Given the description of an element on the screen output the (x, y) to click on. 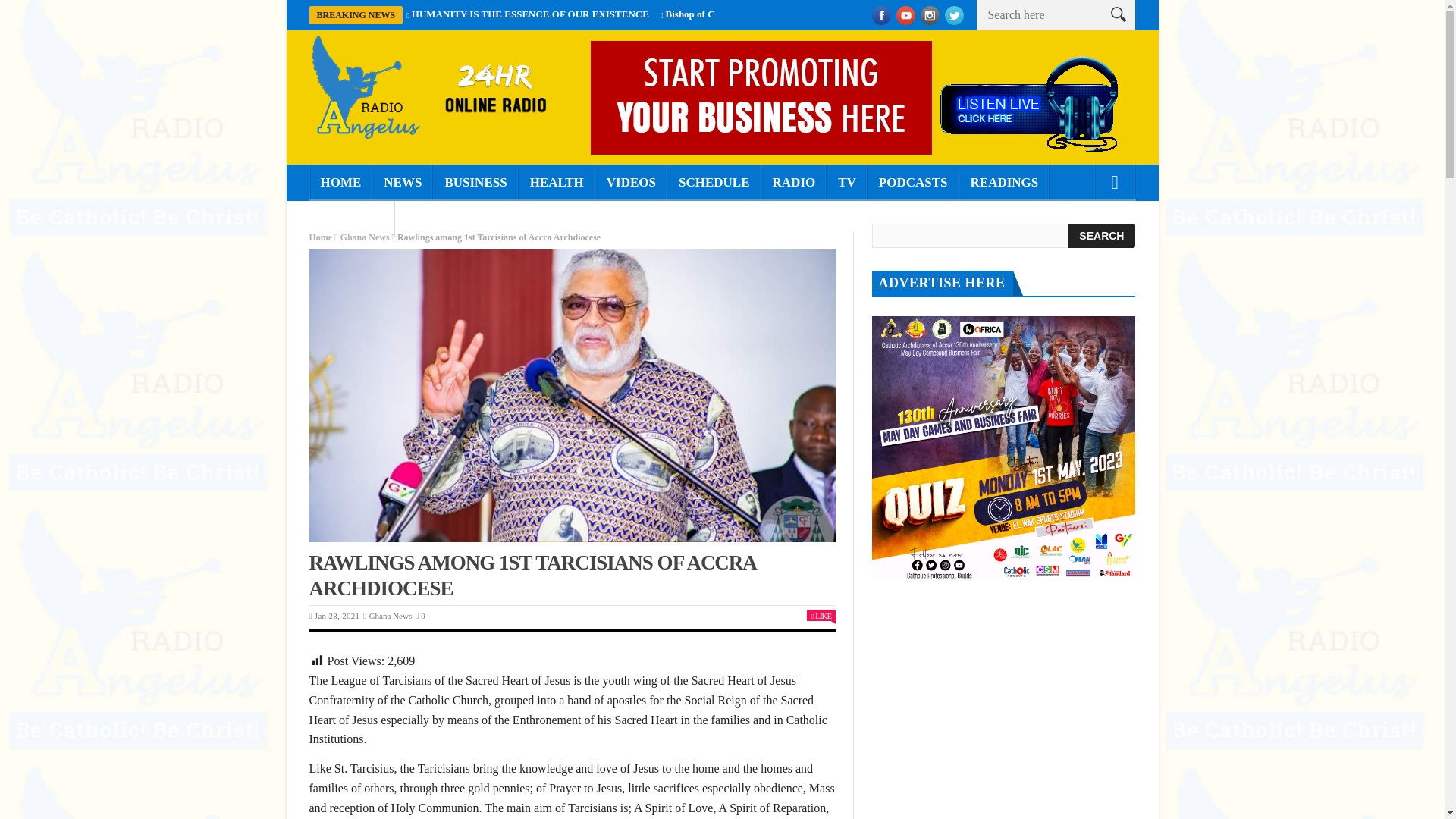
HOME (340, 182)
Like (820, 614)
VIDEOS (630, 182)
HEALTH (556, 182)
SCHEDULE (713, 182)
Search (1101, 235)
NEWS (402, 182)
BUSINESS (475, 182)
HUMANITY IS THE ESSENCE OF OUR EXISTENCE (530, 14)
